Given the description of an element on the screen output the (x, y) to click on. 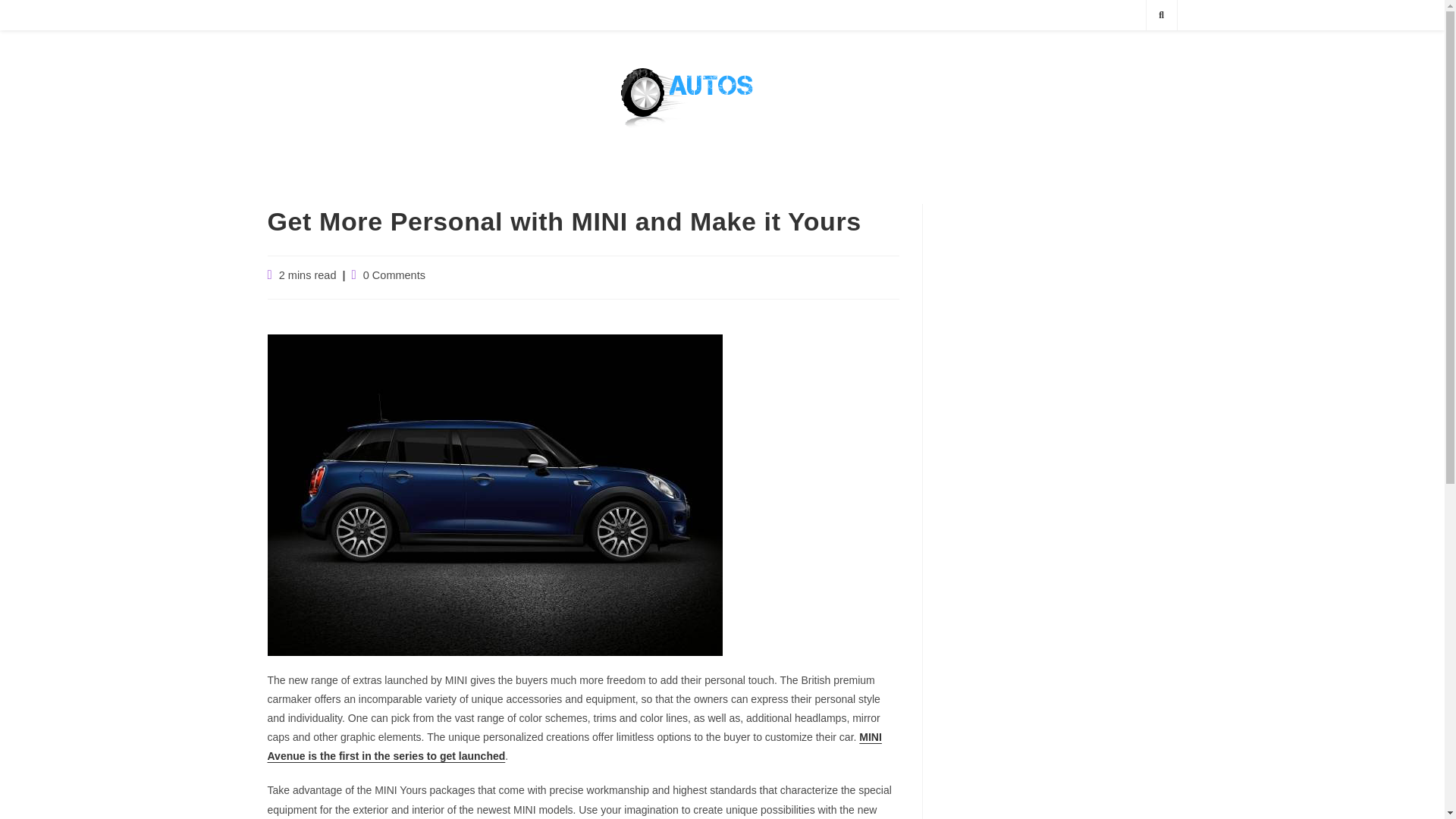
0 Comments (393, 275)
MINI Avenue is the first in the series to get launched (573, 746)
MINI Avenue is the first in the series to get launched (573, 746)
Get More Personal with MINI and Make it Yours (494, 578)
